Given the description of an element on the screen output the (x, y) to click on. 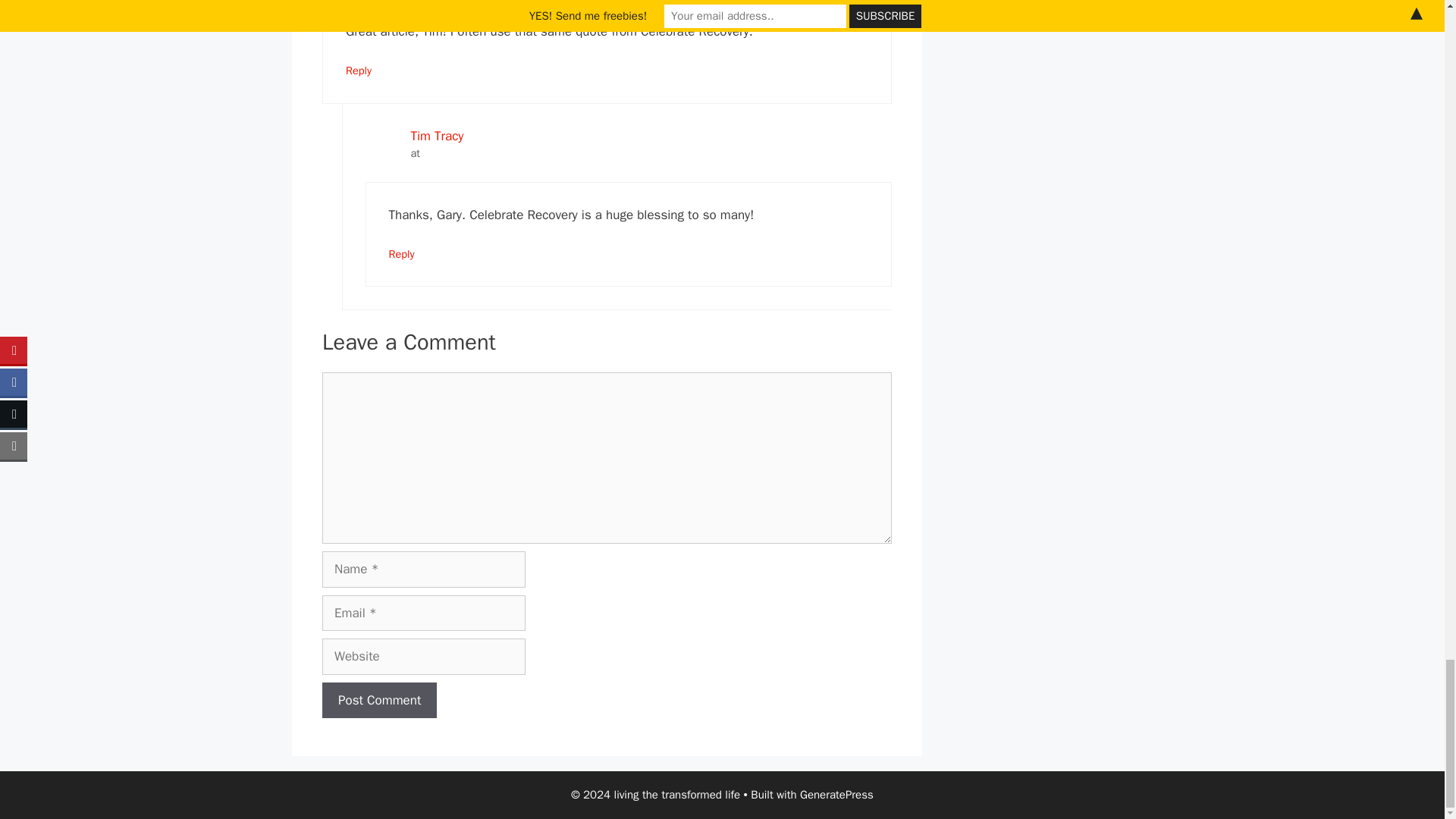
Tim Tracy (437, 135)
Post Comment (378, 700)
Post Comment (378, 700)
Reply (358, 69)
Reply (400, 253)
